Given the description of an element on the screen output the (x, y) to click on. 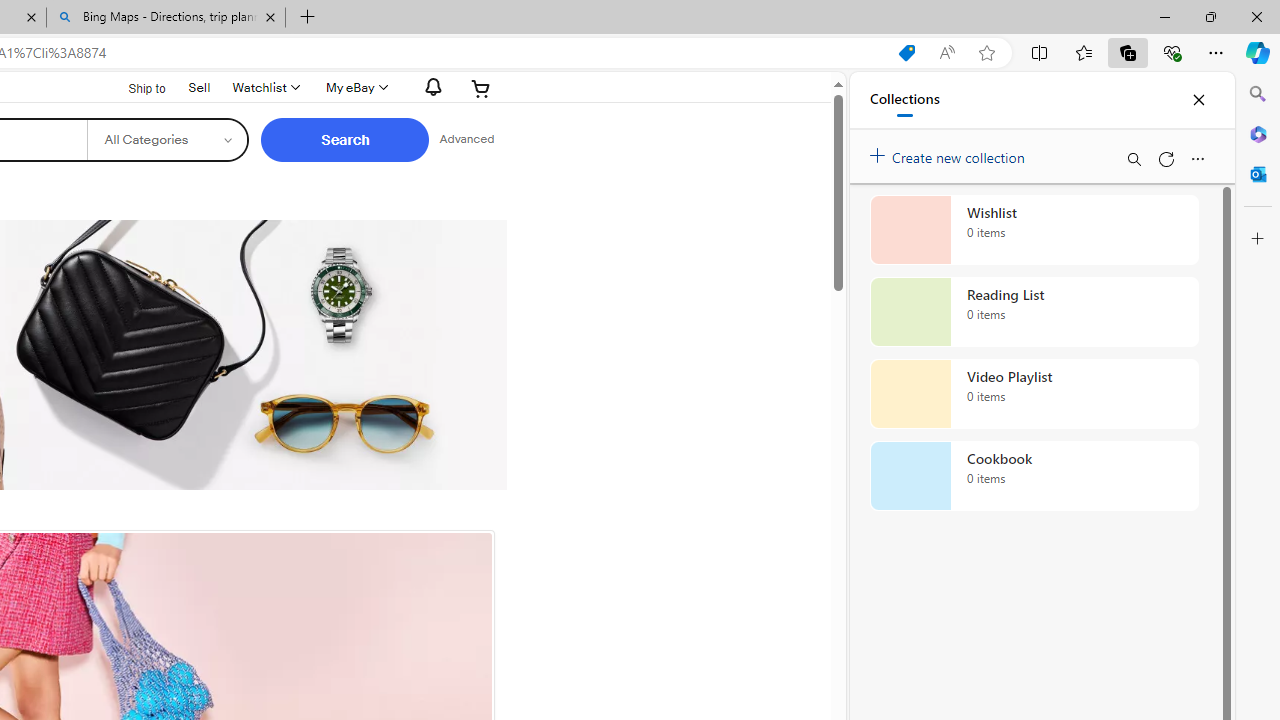
More options menu (1197, 158)
Your shopping cart (481, 88)
Create new collection (950, 153)
Video Playlist collection, 0 items (1034, 394)
Advanced Search (466, 139)
